Given the description of an element on the screen output the (x, y) to click on. 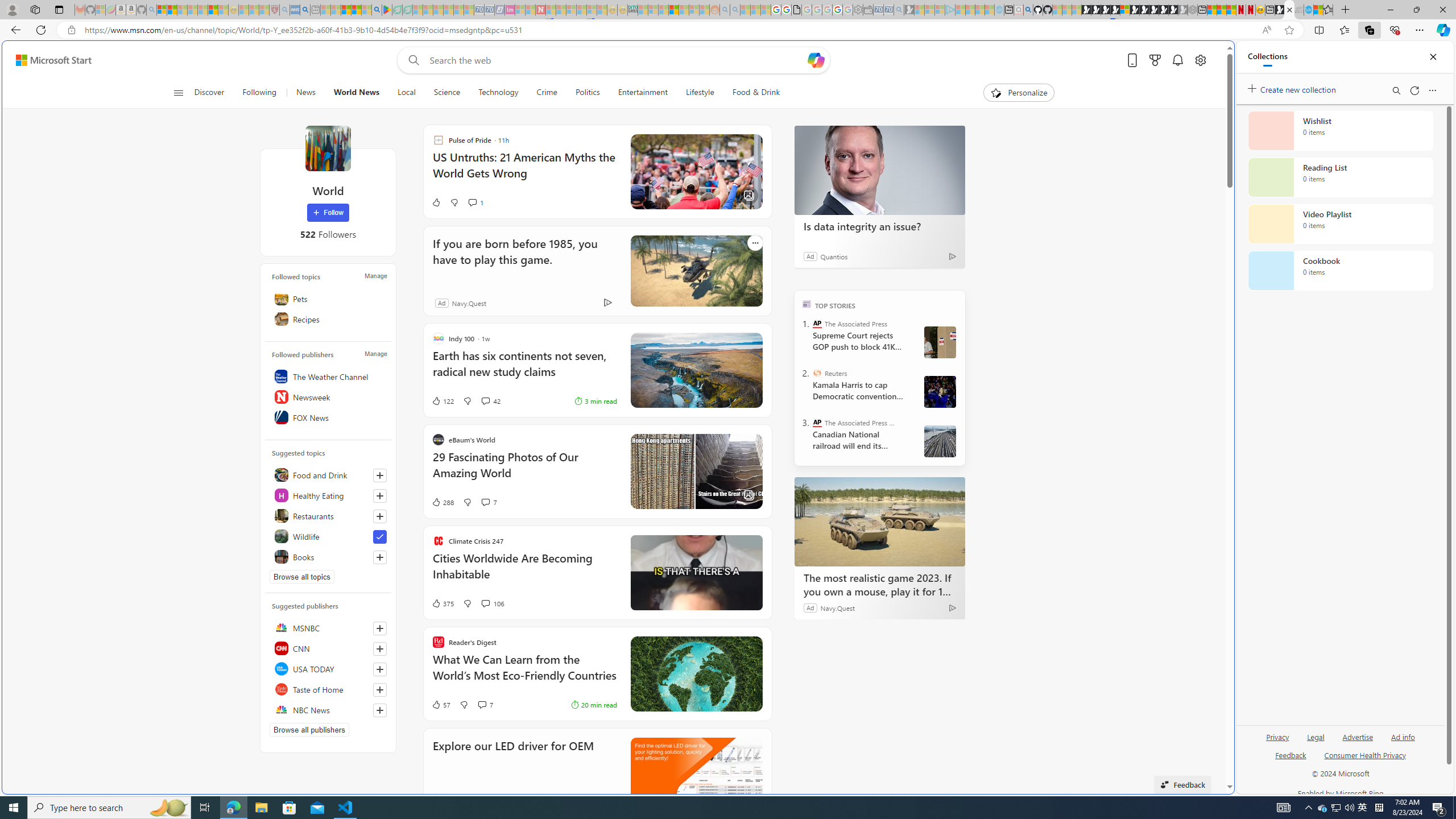
The Weather Channel (327, 376)
View comments 7 Comment (481, 704)
29 Fascinating Photos of Our Amazing World (524, 470)
